Given the description of an element on the screen output the (x, y) to click on. 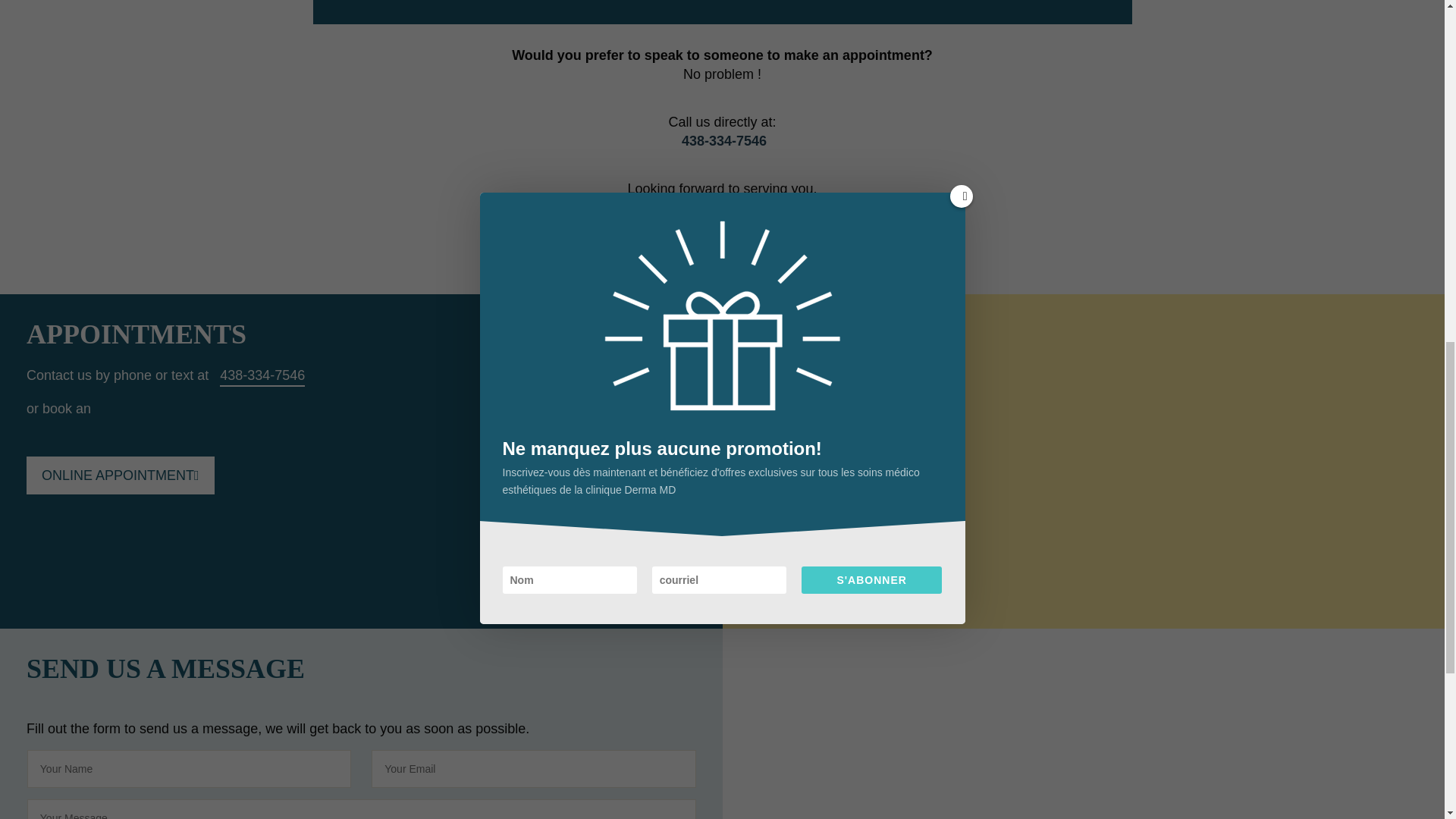
438-334-7546 (261, 375)
Rendez-Vous (120, 475)
438-334-7546 (724, 140)
